Given the description of an element on the screen output the (x, y) to click on. 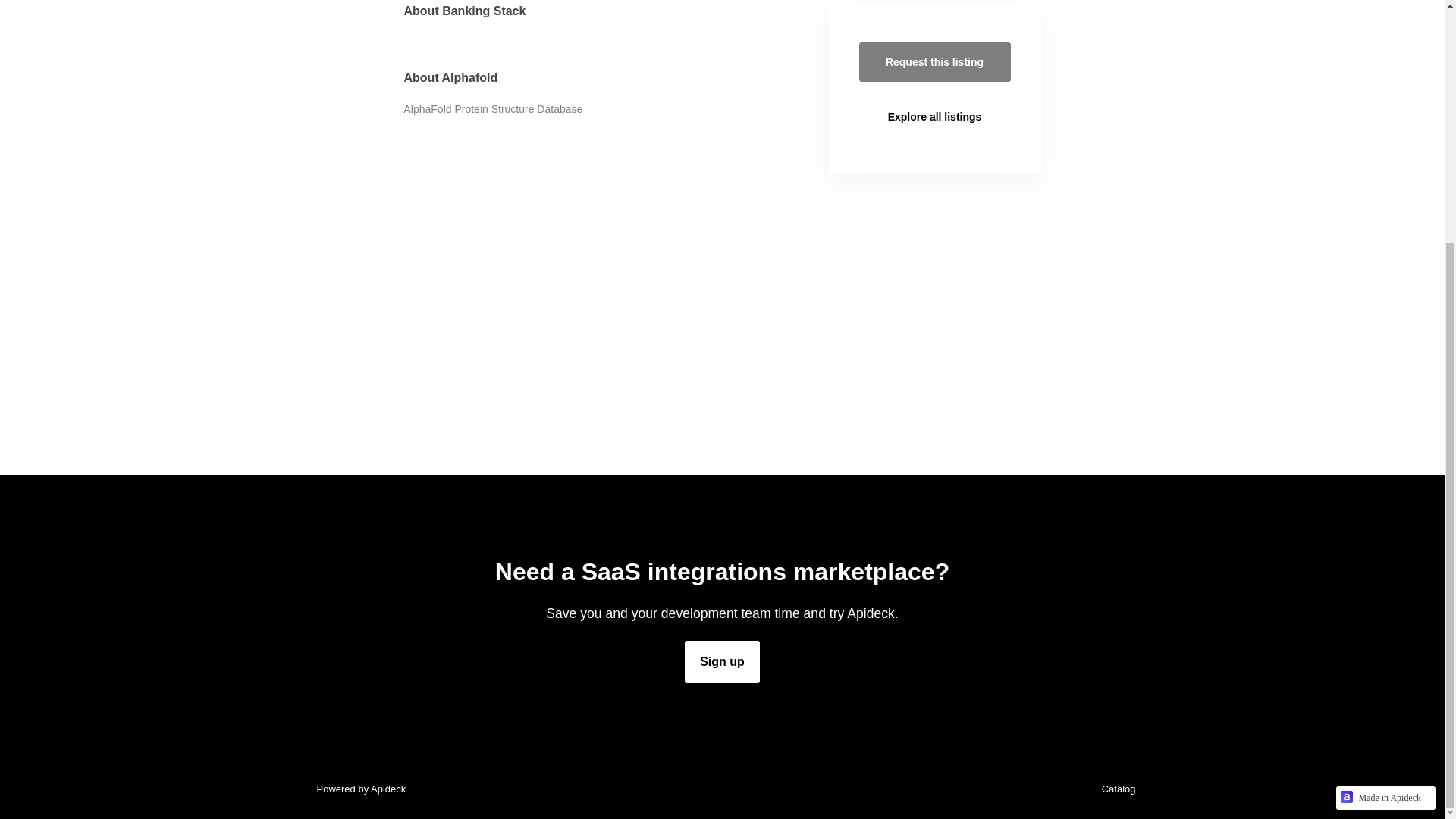
Explore all listings (934, 116)
Sign up (722, 661)
Request this listing (934, 61)
Catalog (1115, 789)
Powered by Apideck (356, 789)
